Given the description of an element on the screen output the (x, y) to click on. 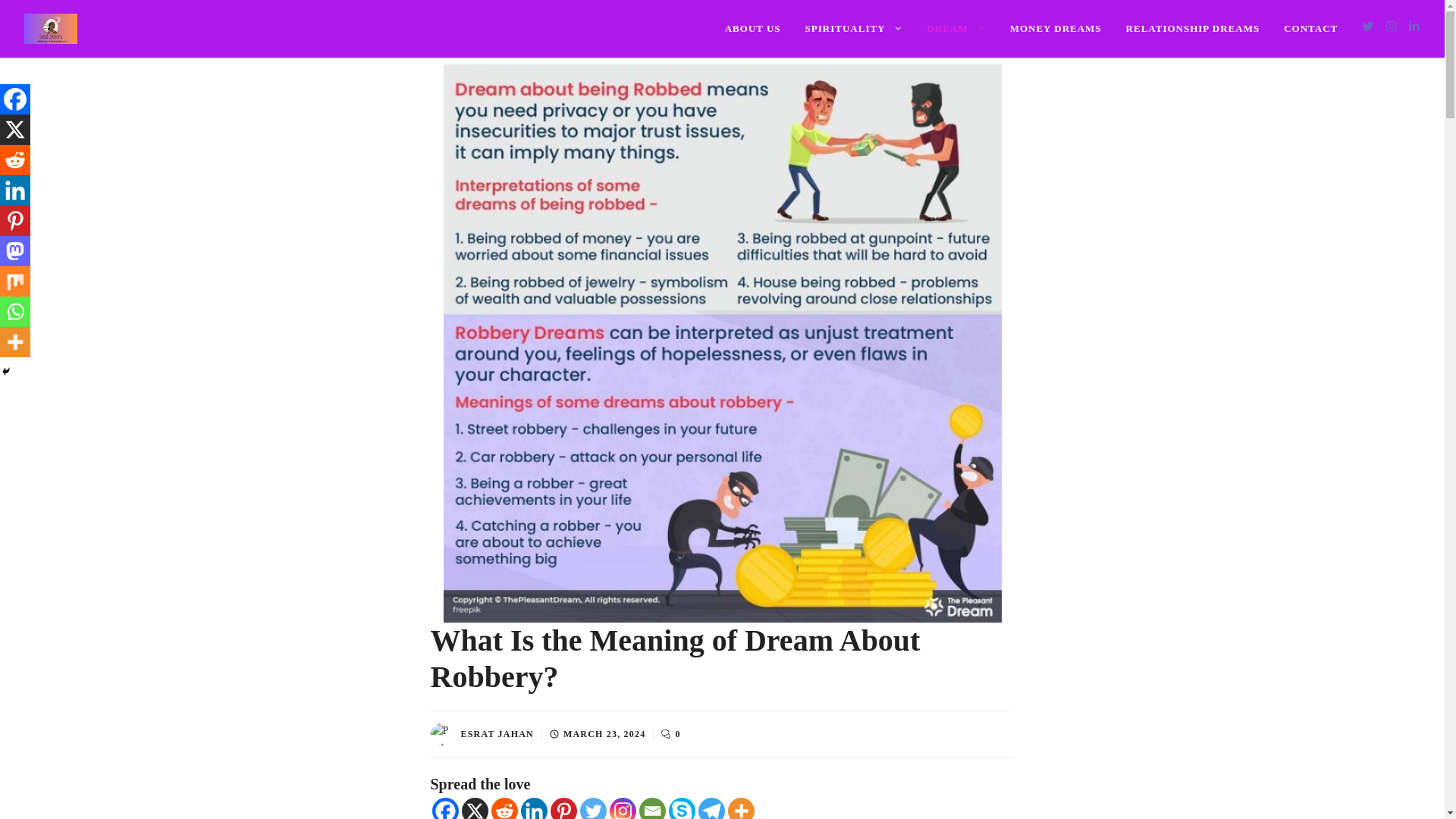
More (741, 808)
Telegram (710, 808)
Twitter (592, 808)
RELATIONSHIP DREAMS (1192, 28)
Instagram (623, 808)
Pinterest (563, 808)
SPIRITUALITY (854, 28)
Reddit (15, 159)
X (15, 129)
Linkedin (15, 190)
X (474, 808)
CONTACT (1310, 28)
Facebook (445, 808)
Email (652, 808)
Facebook (15, 99)
